Given the description of an element on the screen output the (x, y) to click on. 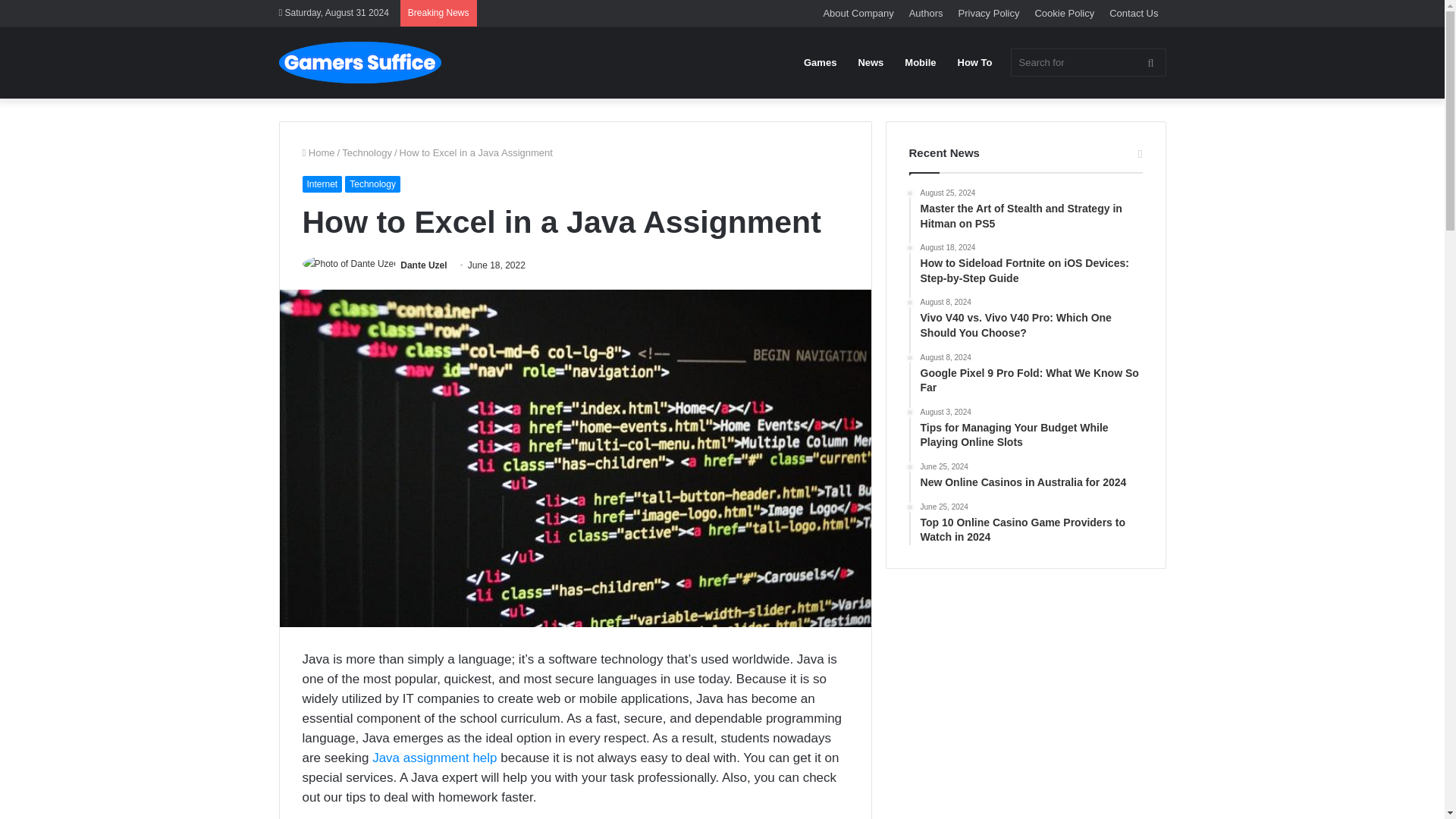
Search for (1088, 62)
About Company (858, 13)
Contact Us (1134, 13)
Privacy Policy (988, 13)
Dante Uzel (423, 265)
Internet (321, 184)
Java assignment help (434, 757)
Technology (366, 152)
Authors (925, 13)
Dante Uzel (423, 265)
